Given the description of an element on the screen output the (x, y) to click on. 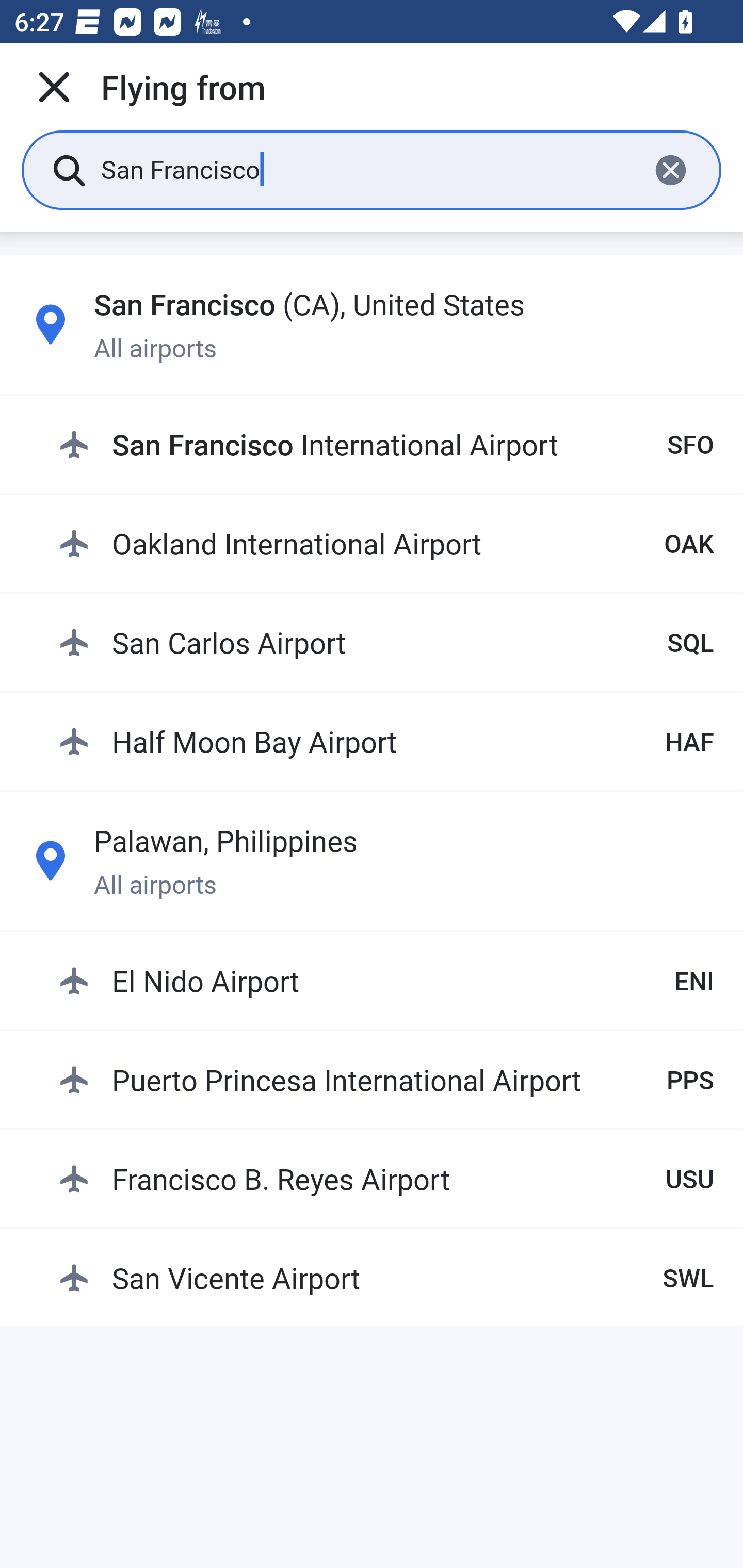
San Francisco (367, 169)
San Francisco (CA), United States All airports (371, 324)
San Francisco International Airport SFO (385, 444)
Oakland International Airport OAK (385, 543)
San Carlos Airport SQL (385, 641)
Half Moon Bay Airport HAF (385, 740)
Palawan, Philippines All airports (371, 860)
El Nido Airport ENI (385, 980)
Puerto Princesa International Airport PPS (385, 1079)
Francisco B. Reyes Airport USU (385, 1178)
San Vicente Airport SWL (385, 1277)
